Given the description of an element on the screen output the (x, y) to click on. 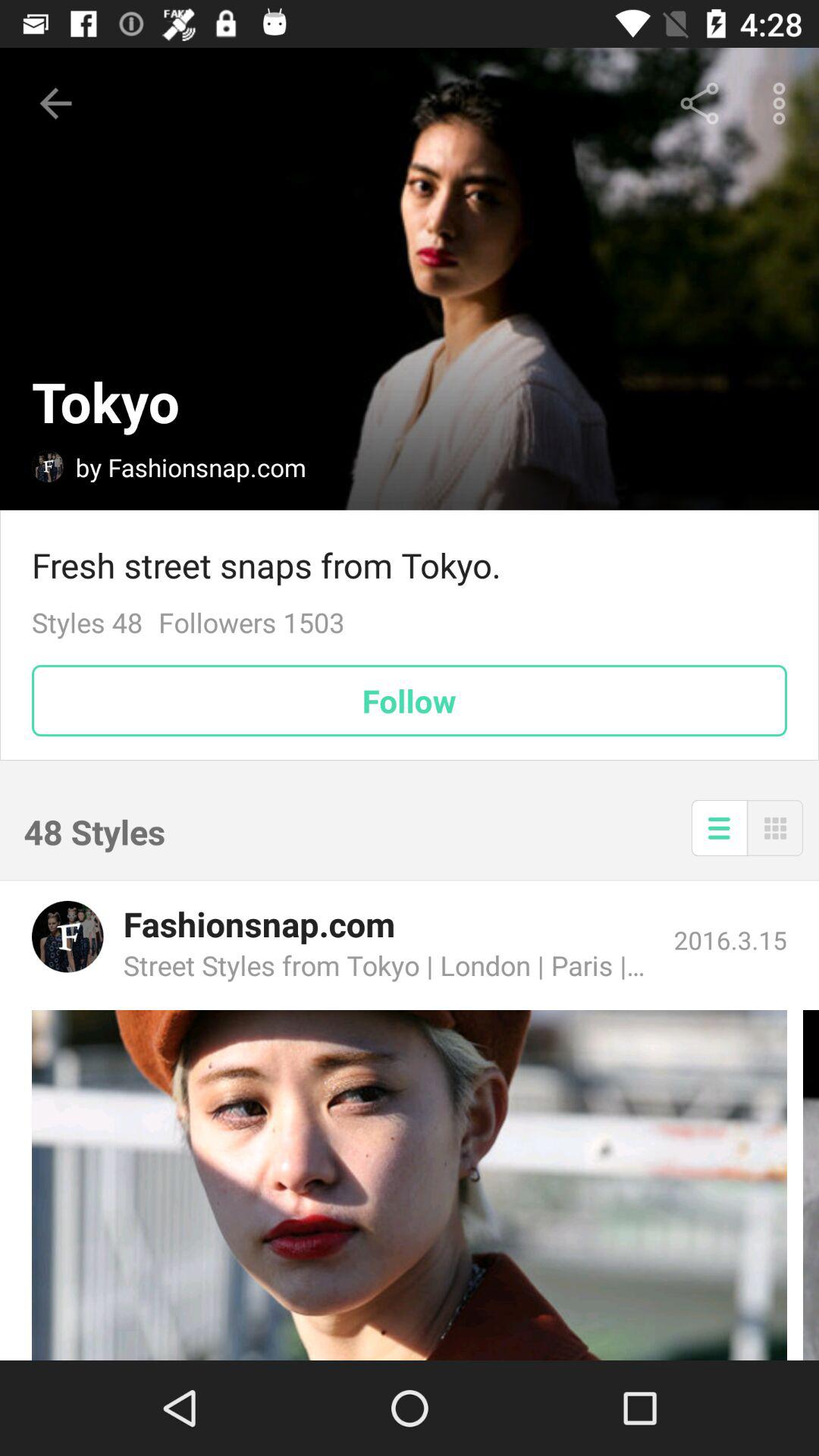
open fashionsnap (67, 936)
